Given the description of an element on the screen output the (x, y) to click on. 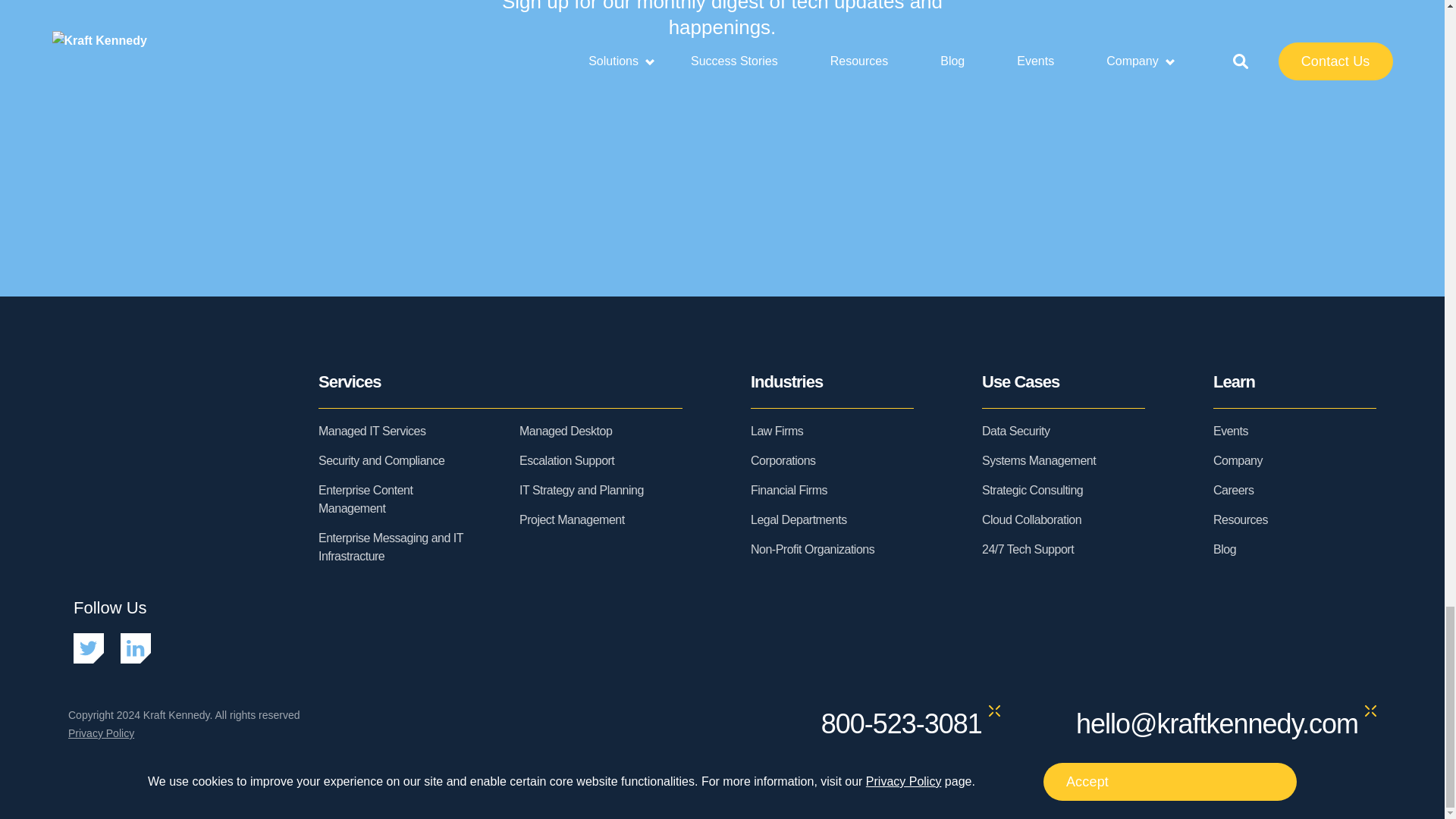
Form 0 (721, 142)
